Given the description of an element on the screen output the (x, y) to click on. 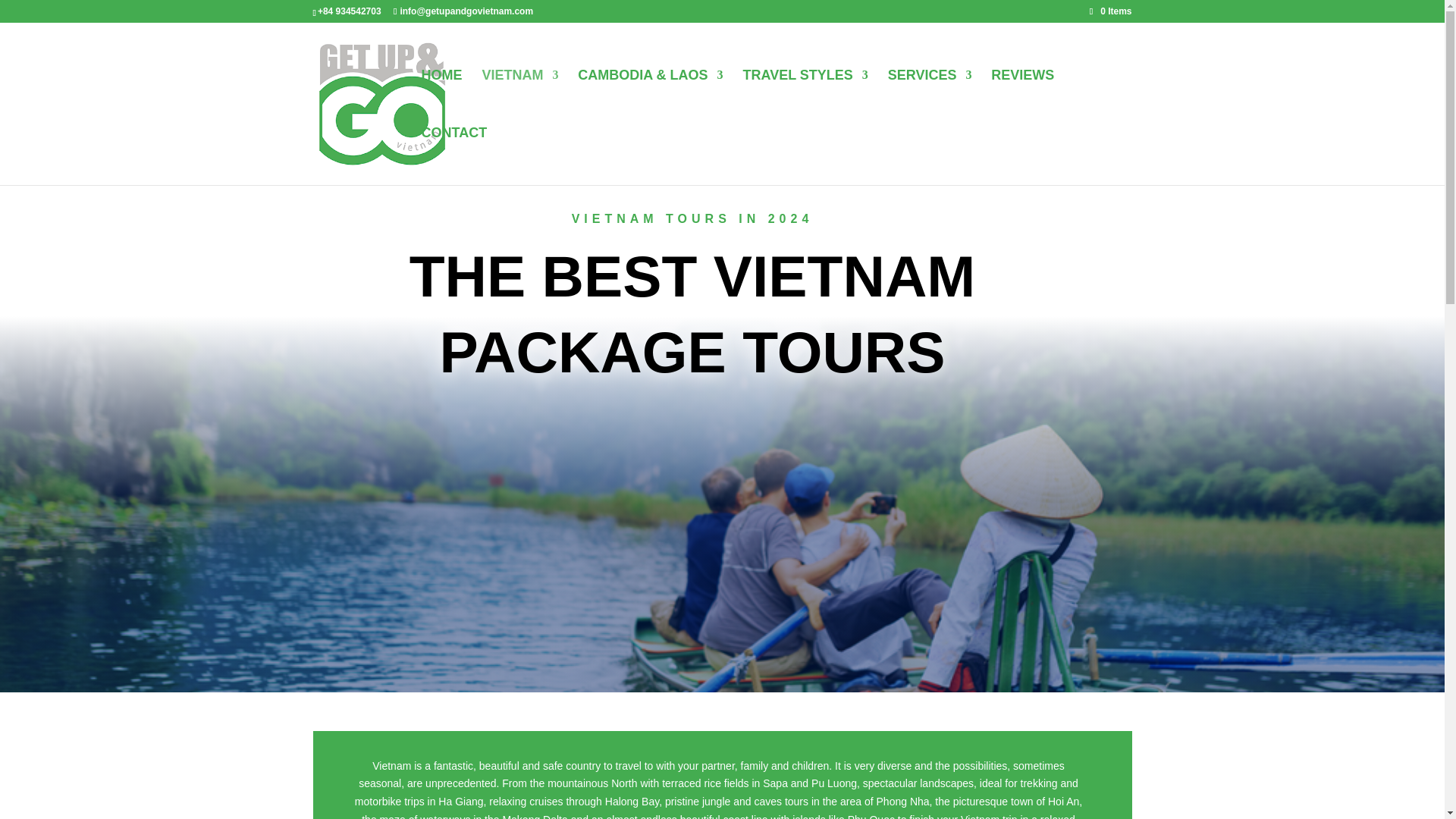
HOME (442, 98)
VIETNAM (519, 98)
0 Items (1110, 10)
